Given the description of an element on the screen output the (x, y) to click on. 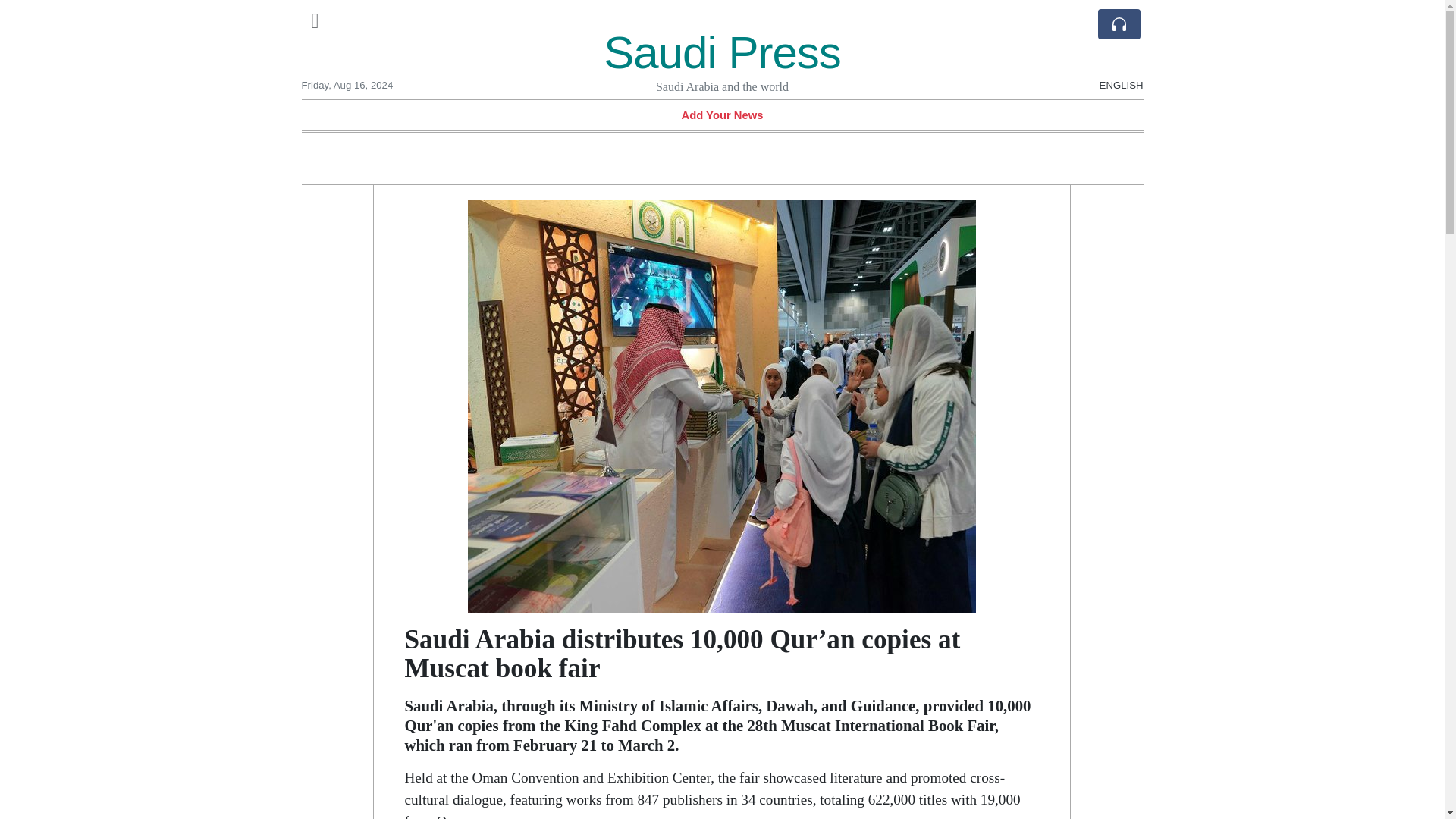
Add Your News (721, 114)
Saudi Press (722, 52)
ENGLISH (1120, 77)
